Given the description of an element on the screen output the (x, y) to click on. 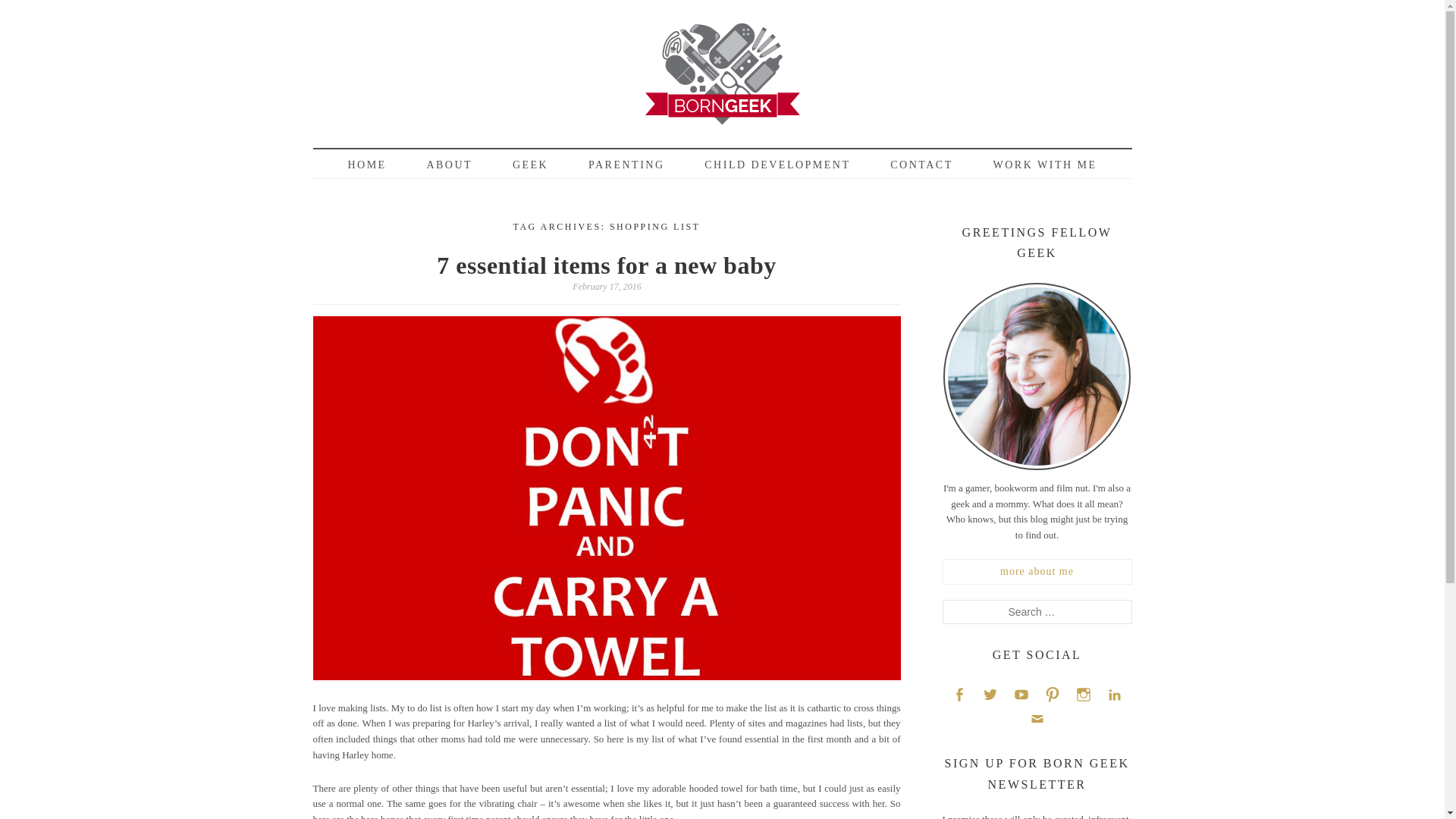
PARENTING (626, 164)
Instagram (1082, 693)
WORK WITH ME (1044, 164)
Twitter (989, 693)
LinkedIn (1114, 693)
Pinterest (1052, 693)
Twitter (989, 693)
YouTube (1021, 693)
Pinterest (1052, 693)
more about me (1036, 571)
